Given the description of an element on the screen output the (x, y) to click on. 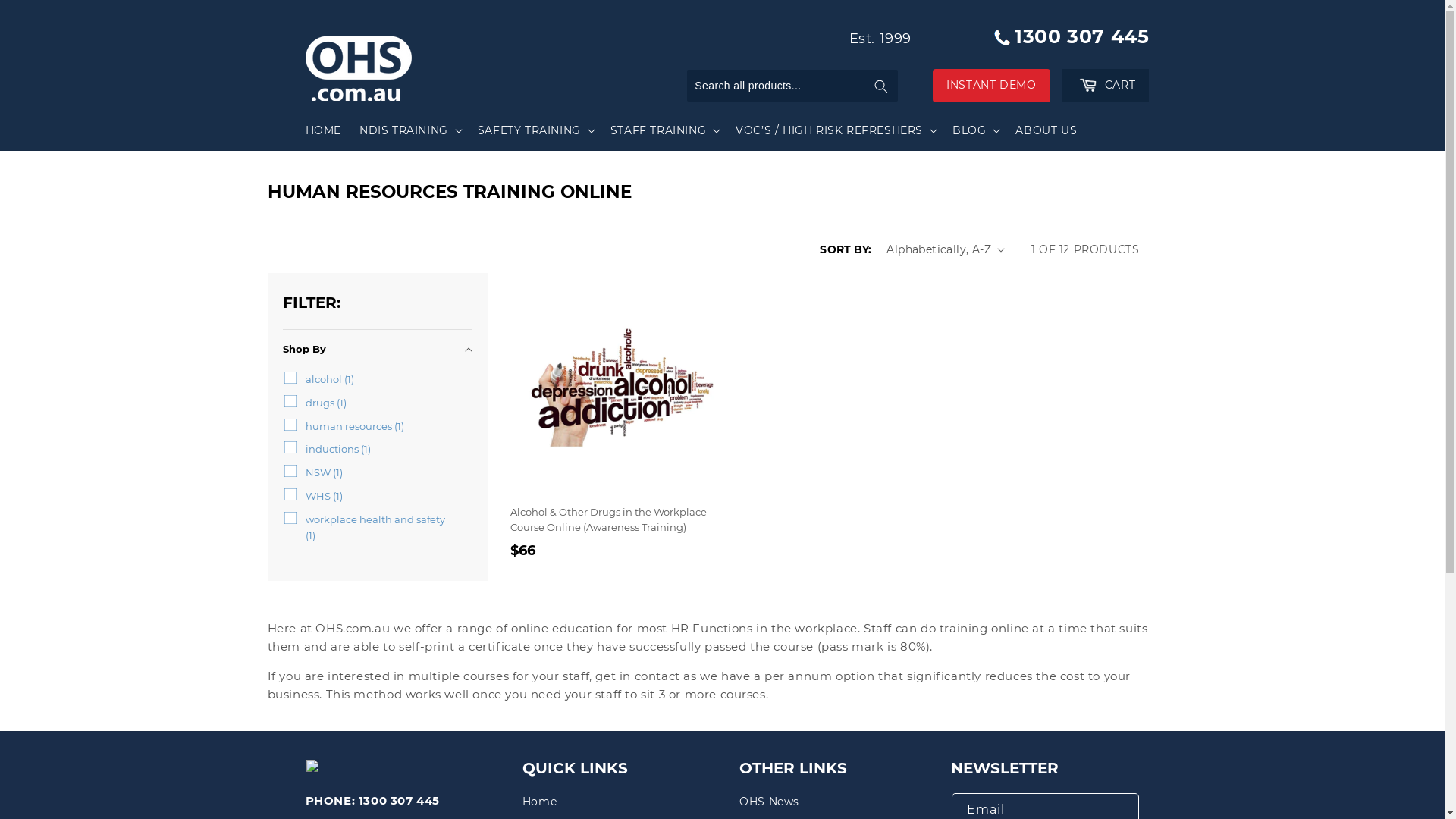
Home Element type: text (539, 803)
1300 307 445 Element type: text (398, 800)
ABOUT US Element type: text (1045, 129)
1300 307 445 Element type: text (1065, 36)
HOME Element type: text (322, 129)
Cart
CART Element type: text (1104, 84)
OHS News Element type: text (769, 803)
INSTANT DEMO Element type: text (990, 84)
